Given the description of an element on the screen output the (x, y) to click on. 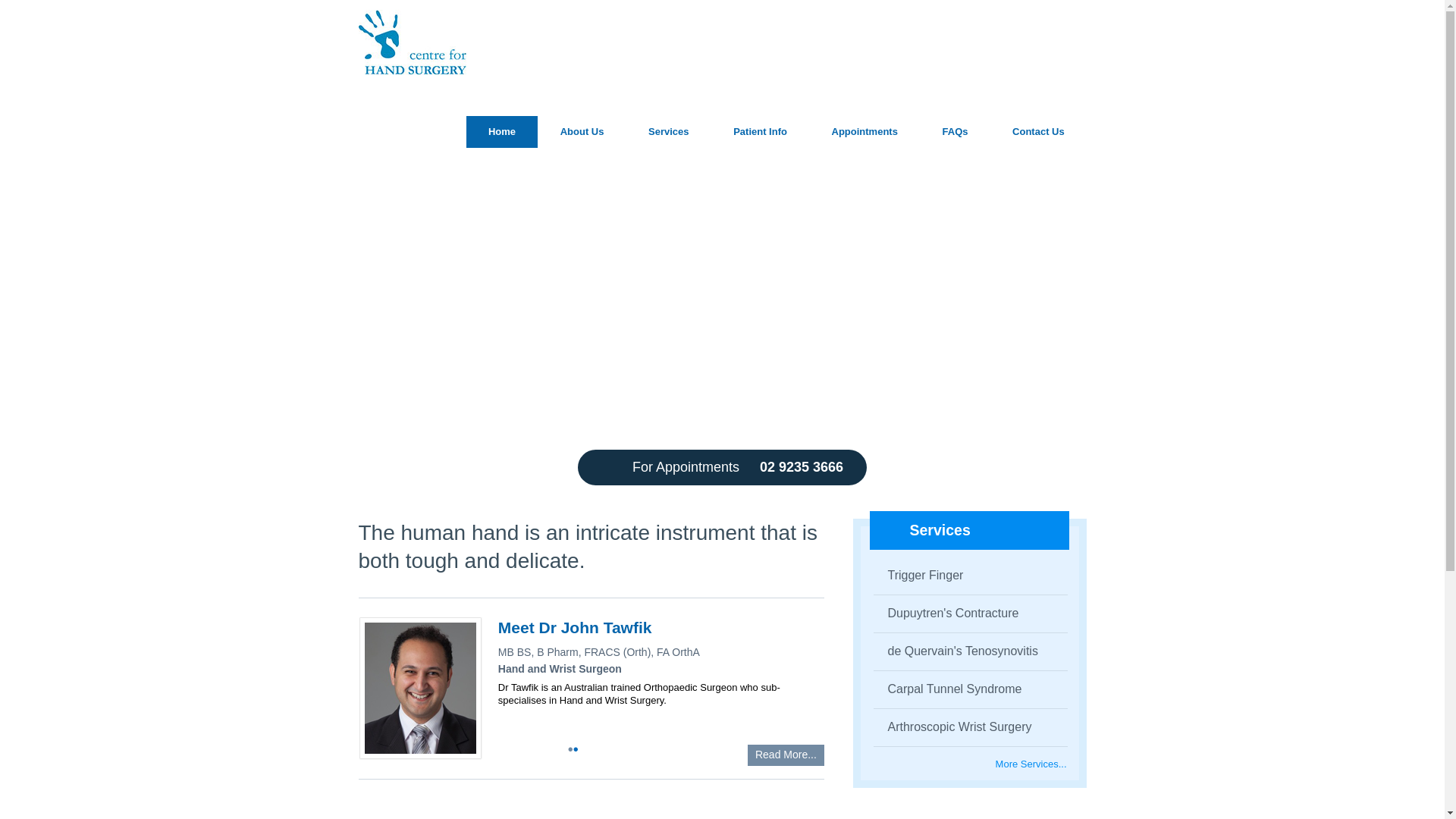
More Services... Element type: text (1030, 763)
Previous Slide Element type: hover (274, 233)
Next Slide Element type: hover (1169, 233)
Contact Us Element type: text (1037, 131)
Dupuytren's Contracture Element type: text (946, 612)
Services Element type: text (668, 131)
de Quervain's Tenosynovitis Element type: text (955, 650)
Appointments Element type: text (864, 131)
FAQs Element type: text (955, 131)
Arthroscopic Wrist Surgery Element type: text (952, 726)
About Us Element type: text (581, 131)
02 9235 3666 Element type: text (801, 466)
Trigger Finger Element type: text (918, 574)
Patient Info Element type: text (759, 131)
Carpal Tunnel Syndrome Element type: text (947, 688)
Read More... Element type: text (785, 754)
Meet Dr John Tawfik Element type: text (575, 627)
Home Element type: text (501, 131)
